Given the description of an element on the screen output the (x, y) to click on. 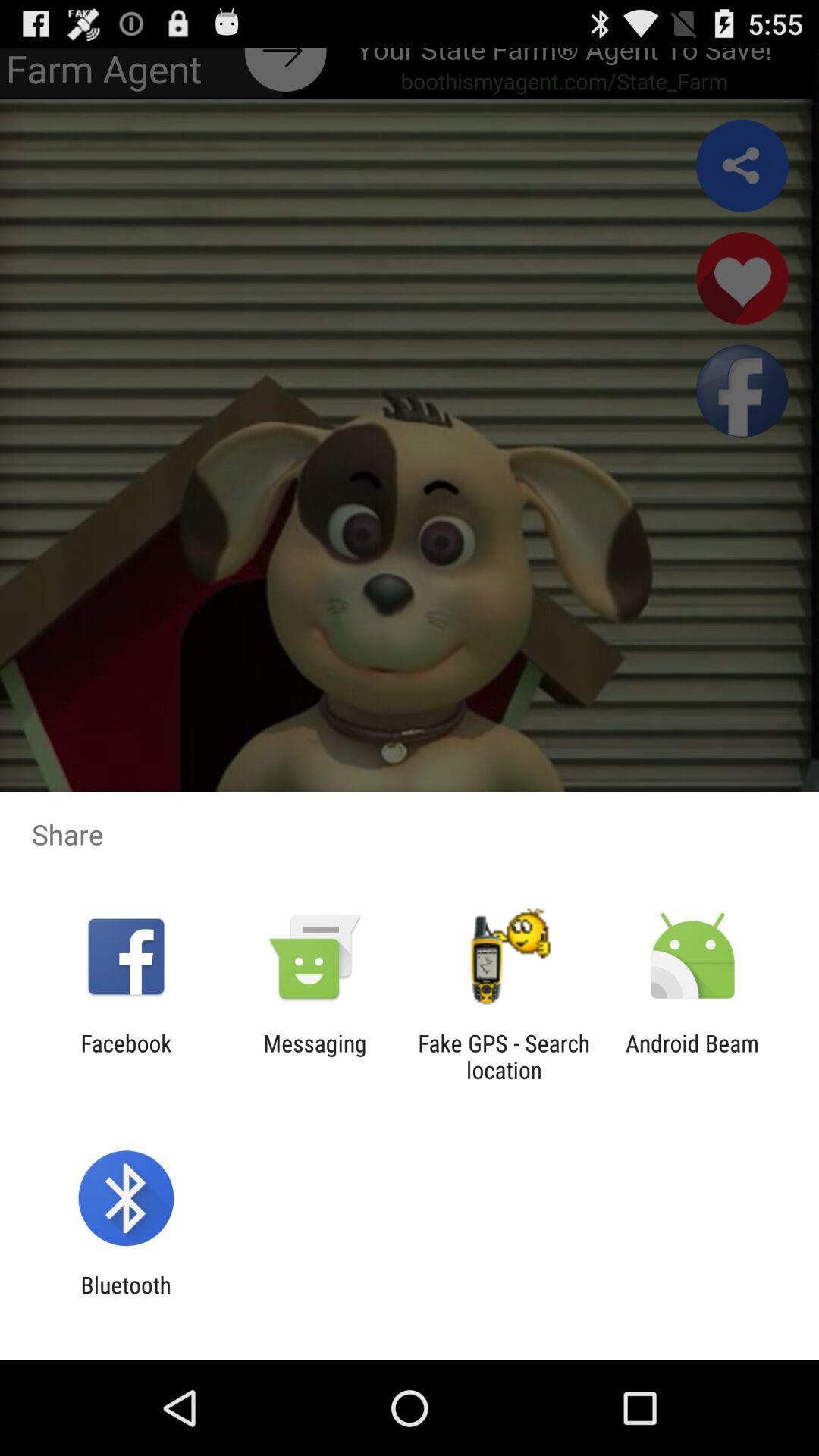
press the app next to the android beam (503, 1056)
